Given the description of an element on the screen output the (x, y) to click on. 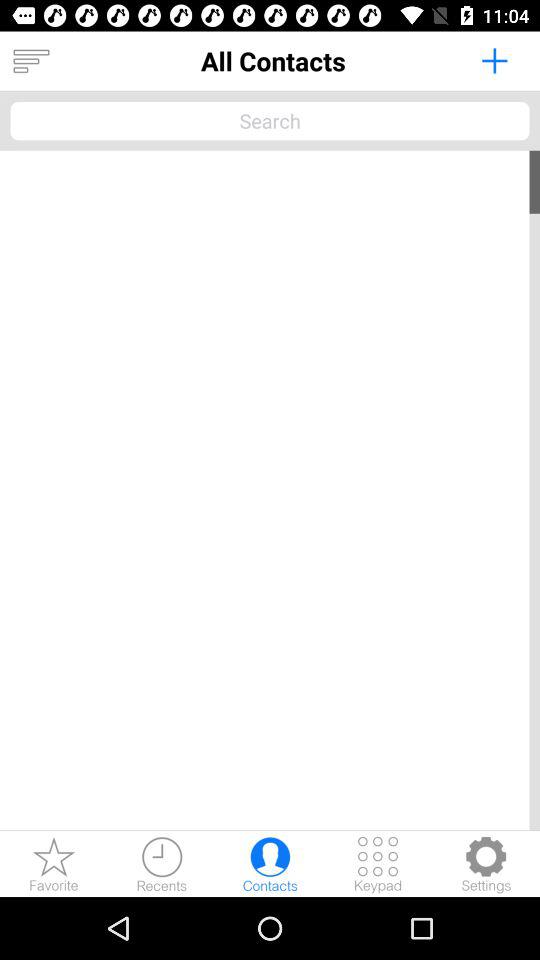
this will bring up your contacts (269, 864)
